Given the description of an element on the screen output the (x, y) to click on. 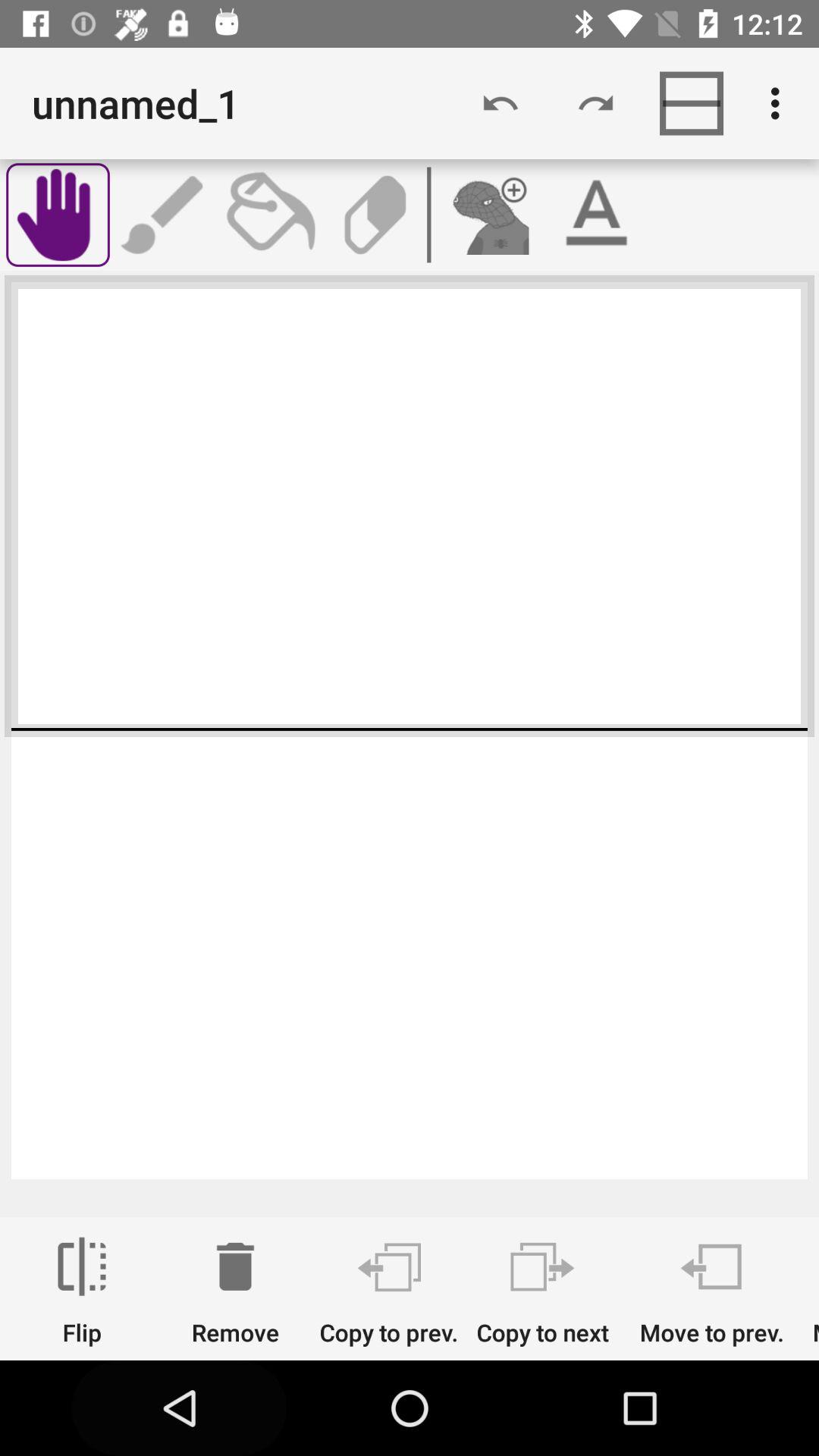
select paintbrush (163, 214)
